Given the description of an element on the screen output the (x, y) to click on. 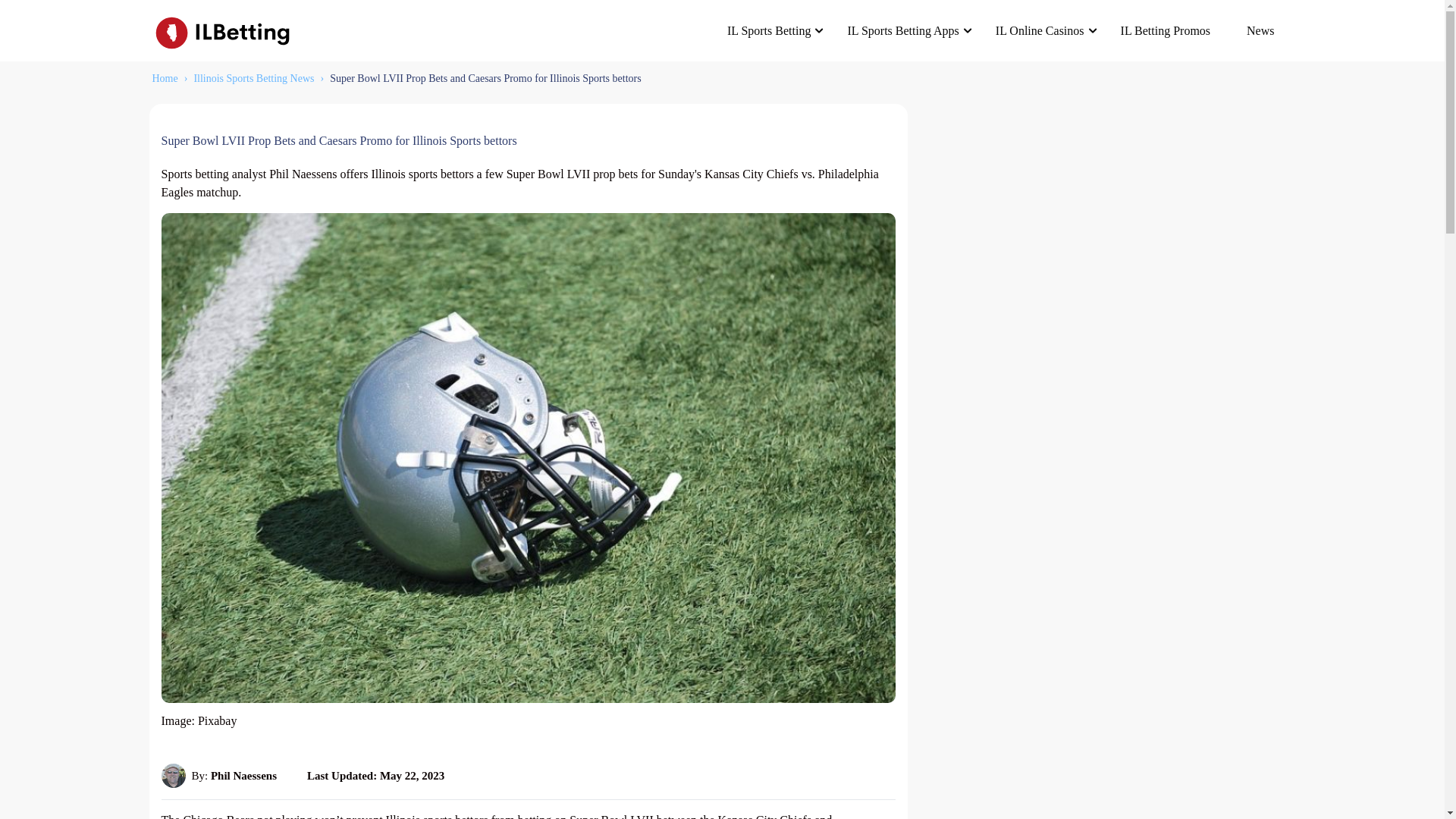
Illinois Sports Betting News (253, 78)
Go to Illinois Sports Betting News. (253, 78)
IL Sports Betting Apps (902, 30)
By: Phil Naessens (218, 775)
IL Sports Betting (769, 30)
Home (164, 78)
IL Online Casinos (1039, 30)
IL Betting Promos (1165, 30)
News (1260, 30)
Go to IL Betting. (164, 78)
